Given the description of an element on the screen output the (x, y) to click on. 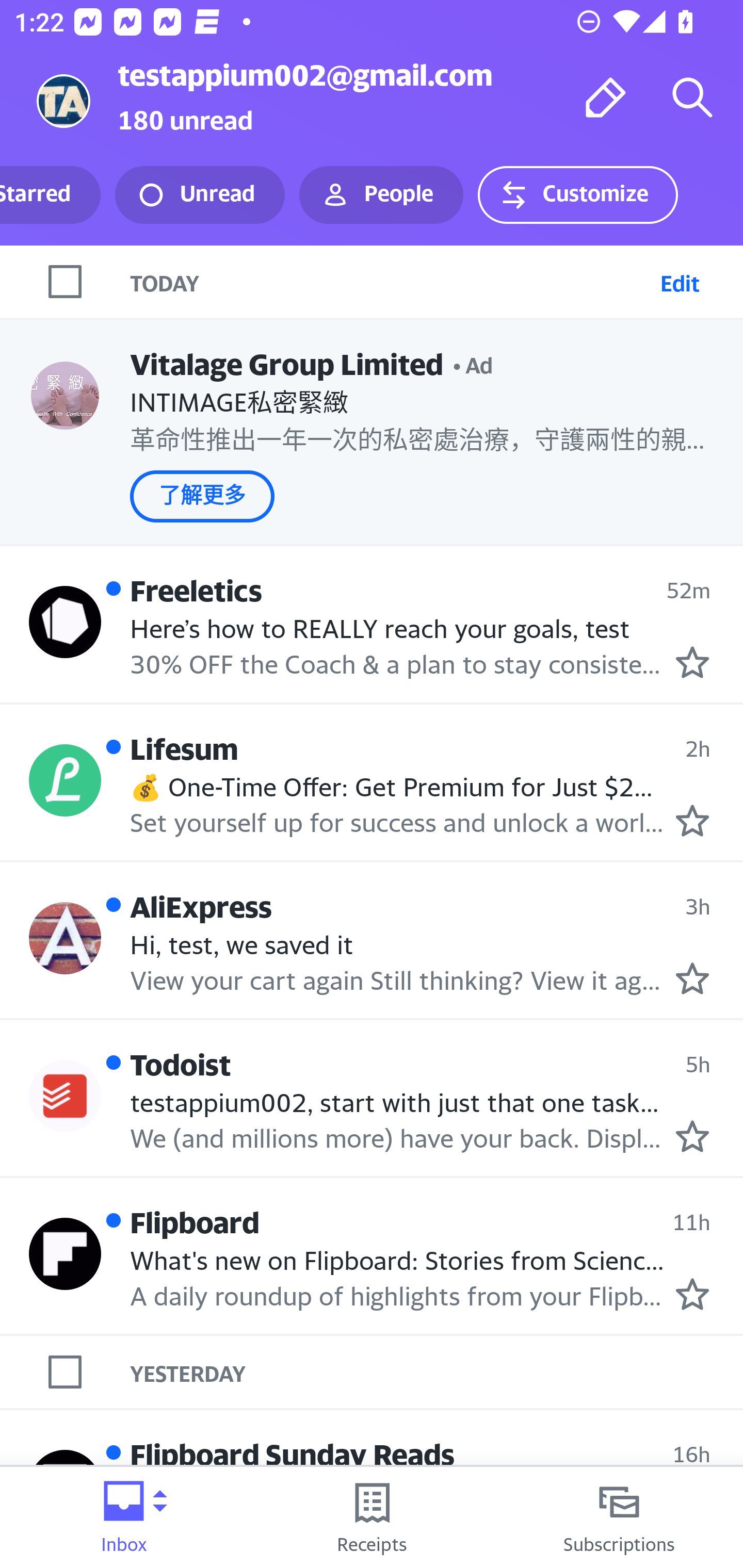
Compose (605, 97)
Search mail (692, 97)
Unread (199, 195)
People (381, 195)
Customize (577, 195)
TODAY (391, 281)
Edit Select emails (679, 281)
Profile
Freeletics (64, 622)
Mark as starred. (692, 662)
Profile
Lifesum (64, 780)
Mark as starred. (692, 820)
Profile
AliExpress (64, 937)
Mark as starred. (692, 978)
Profile
Todoist (64, 1095)
Mark as starred. (692, 1135)
Profile
Flipboard (64, 1254)
Mark as starred. (692, 1294)
YESTERDAY (436, 1371)
Inbox Folder picker (123, 1517)
Receipts (371, 1517)
Subscriptions (619, 1517)
